Given the description of an element on the screen output the (x, y) to click on. 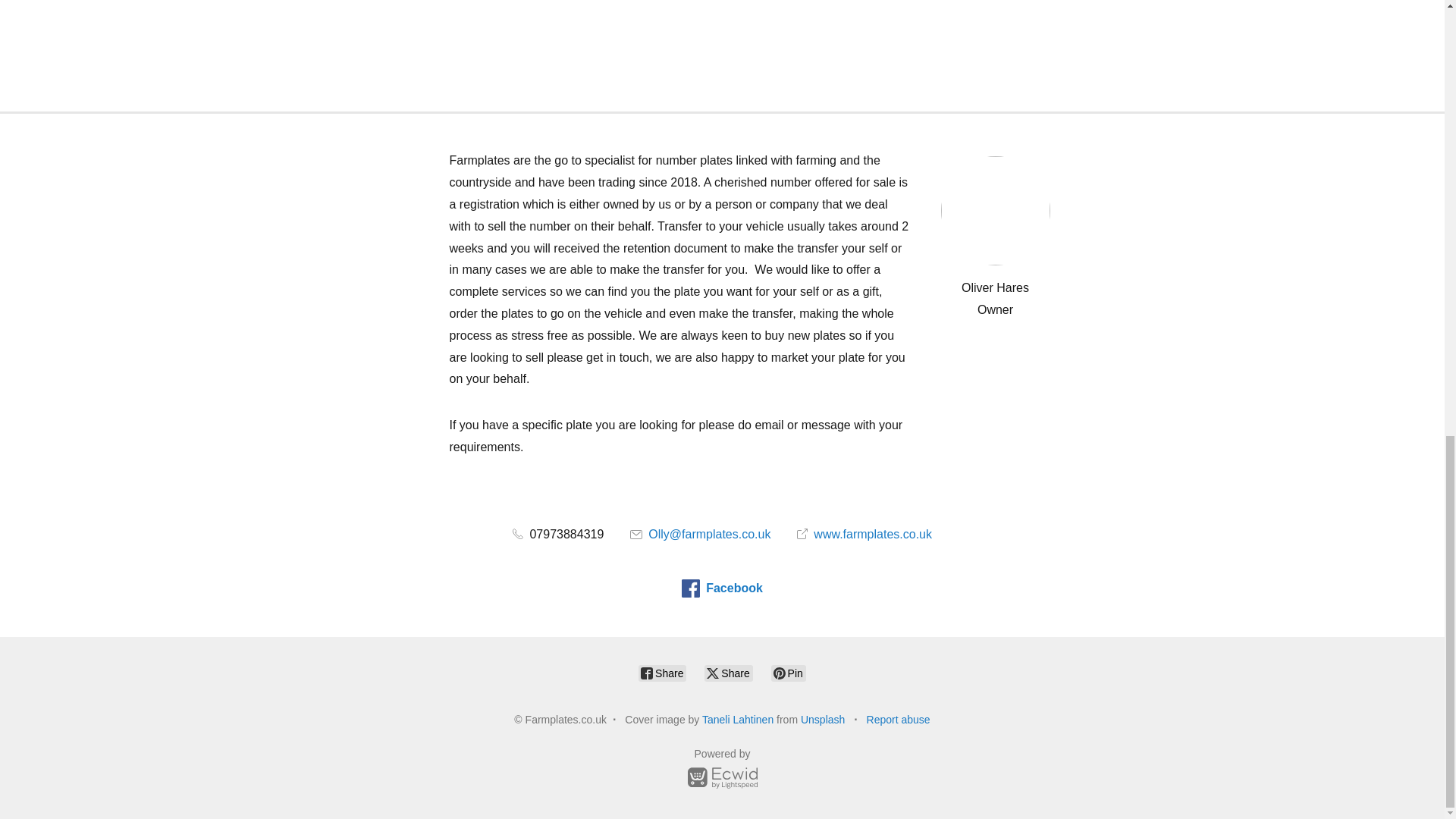
Report abuse (898, 719)
Unsplash (822, 719)
www.farmplates.co.uk (863, 533)
Share (728, 673)
Share (662, 673)
Powered by (722, 770)
Facebook (721, 588)
Pin (788, 673)
Taneli Lahtinen (737, 719)
07973884319 (558, 533)
